Given the description of an element on the screen output the (x, y) to click on. 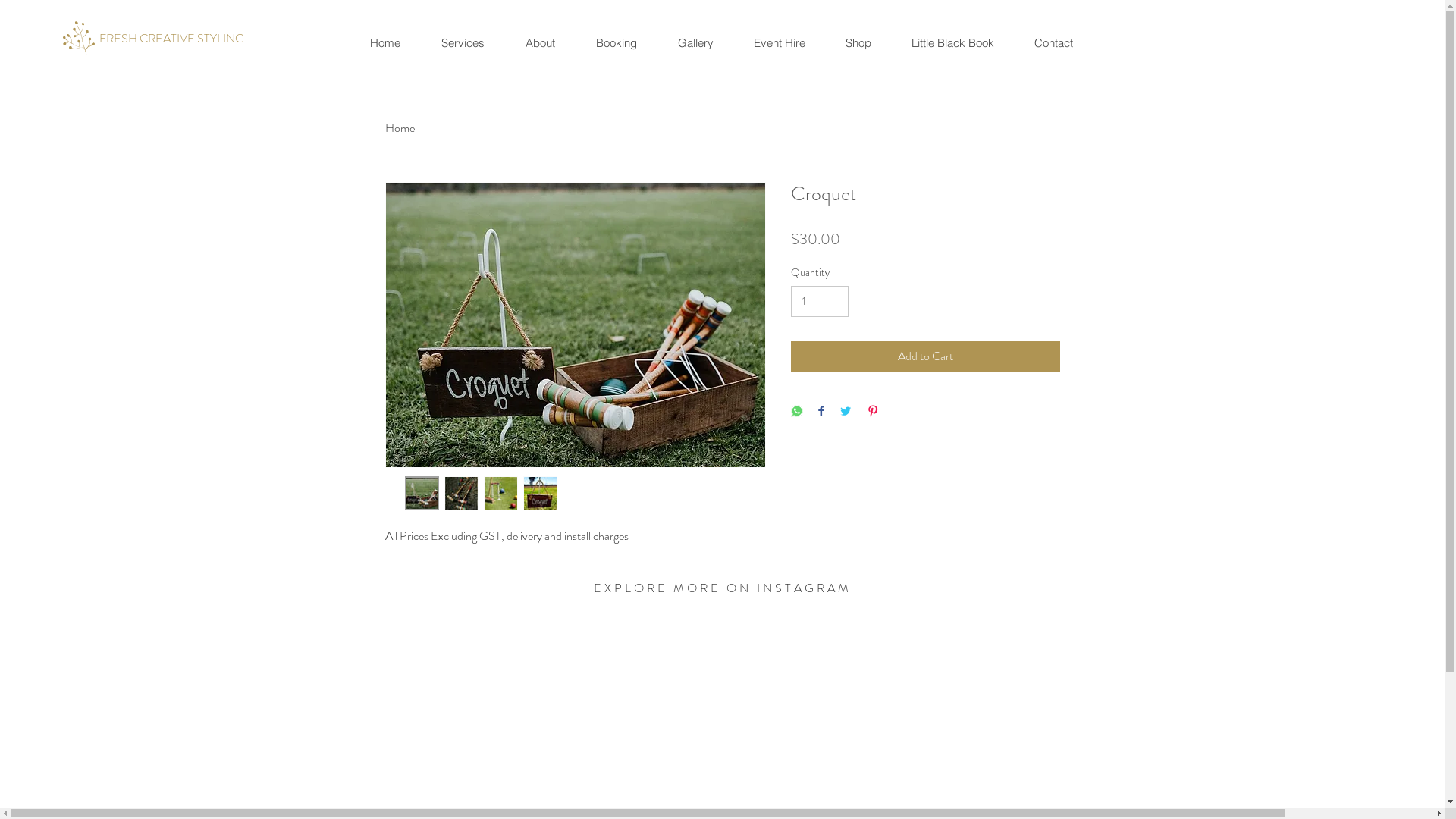
Event Hire Element type: text (779, 42)
About Element type: text (539, 42)
Contact Element type: text (1052, 42)
Little Black Book Element type: text (952, 42)
FRESH CREATIVE STYLING Element type: text (171, 38)
Home Element type: text (399, 127)
Add to Cart Element type: text (924, 356)
Shop Element type: text (858, 42)
Booking Element type: text (615, 42)
Home Element type: text (384, 42)
Gallery Element type: text (694, 42)
Services Element type: text (462, 42)
